Given the description of an element on the screen output the (x, y) to click on. 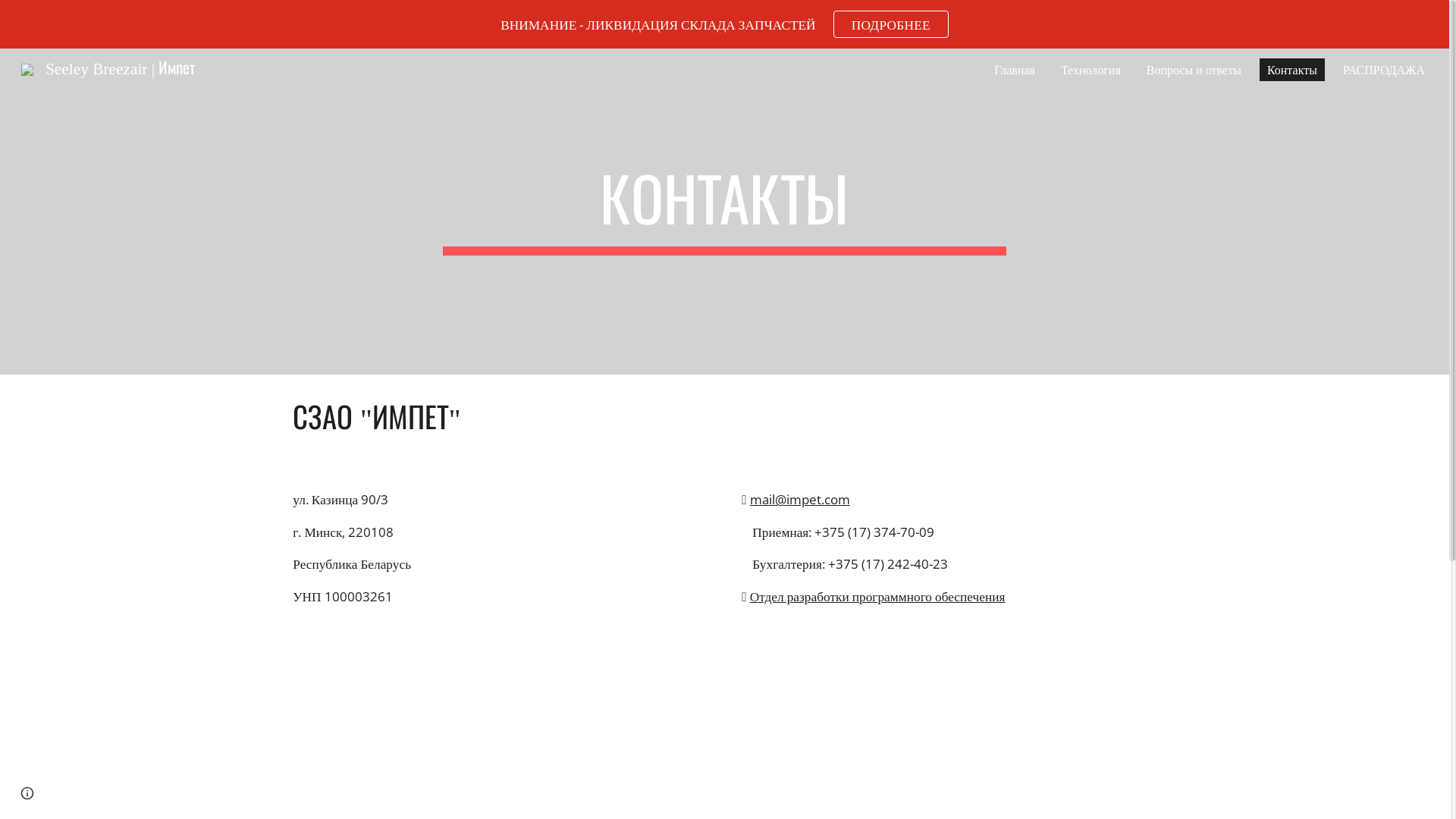
mail@impet.com Element type: text (799, 498)
